Given the description of an element on the screen output the (x, y) to click on. 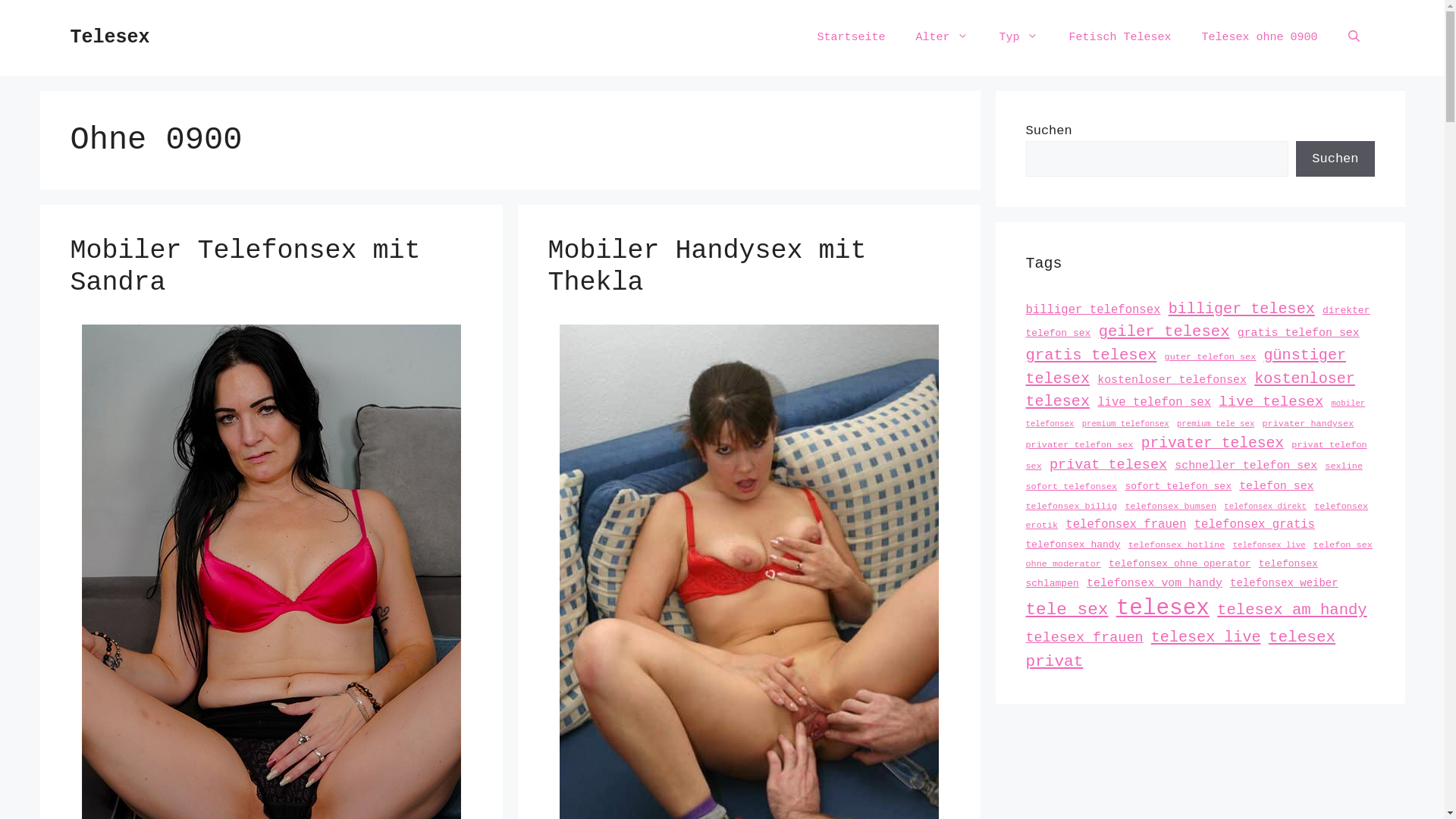
telefonsex weiber Element type: text (1284, 582)
telefonsex hotline Element type: text (1176, 544)
privater telesex Element type: text (1212, 443)
tele sex Element type: text (1066, 609)
billiger telefonsex Element type: text (1092, 309)
live telesex Element type: text (1270, 401)
Typ Element type: text (1018, 37)
Fetisch Telesex Element type: text (1119, 37)
gratis telefon sex Element type: text (1298, 332)
guter telefon sex Element type: text (1210, 356)
kostenloser telefonsex Element type: text (1171, 379)
mobiler telefonsex Element type: text (1195, 413)
direkter telefon sex Element type: text (1197, 321)
sofort telefonsex Element type: text (1071, 486)
Telesex Element type: text (109, 37)
telefon sex ohne moderator Element type: text (1198, 554)
telefonsex handy Element type: text (1072, 543)
telesex am handy Element type: text (1292, 609)
sofort telefon sex Element type: text (1177, 486)
telesex privat Element type: text (1180, 648)
billiger telesex Element type: text (1241, 308)
telefon sex Element type: text (1276, 486)
Telesex ohne 0900 Element type: text (1259, 37)
gratis telesex Element type: text (1090, 355)
telefonsex vom handy Element type: text (1154, 582)
telefonsex frauen Element type: text (1125, 524)
telesex frauen Element type: text (1083, 638)
Mobiler Handysex mit Thekla Element type: text (706, 266)
geiler telesex Element type: text (1164, 331)
premium telefonsex Element type: text (1125, 423)
sexline Element type: text (1343, 466)
telesex live Element type: text (1206, 637)
live telefon sex Element type: text (1154, 402)
telefonsex live Element type: text (1269, 544)
Suchen Element type: text (1334, 159)
privater handysex Element type: text (1307, 423)
telefonsex direkt Element type: text (1264, 506)
Startseite Element type: text (850, 37)
telefonsex ohne operator Element type: text (1179, 563)
telesex Element type: text (1162, 608)
telefonsex gratis Element type: text (1254, 524)
privater telefon sex Element type: text (1078, 444)
premium tele sex Element type: text (1215, 423)
telefonsex bumsen Element type: text (1170, 505)
kostenloser telesex Element type: text (1189, 390)
privat telesex Element type: text (1108, 465)
telefonsex erotik Element type: text (1196, 515)
Mobiler Telefonsex mit Sandra Element type: text (244, 266)
privat telefon sex Element type: text (1195, 455)
telefonsex schlampen Element type: text (1171, 573)
schneller telefon sex Element type: text (1245, 465)
telefonsex billig Element type: text (1071, 505)
Alter Element type: text (941, 37)
